Given the description of an element on the screen output the (x, y) to click on. 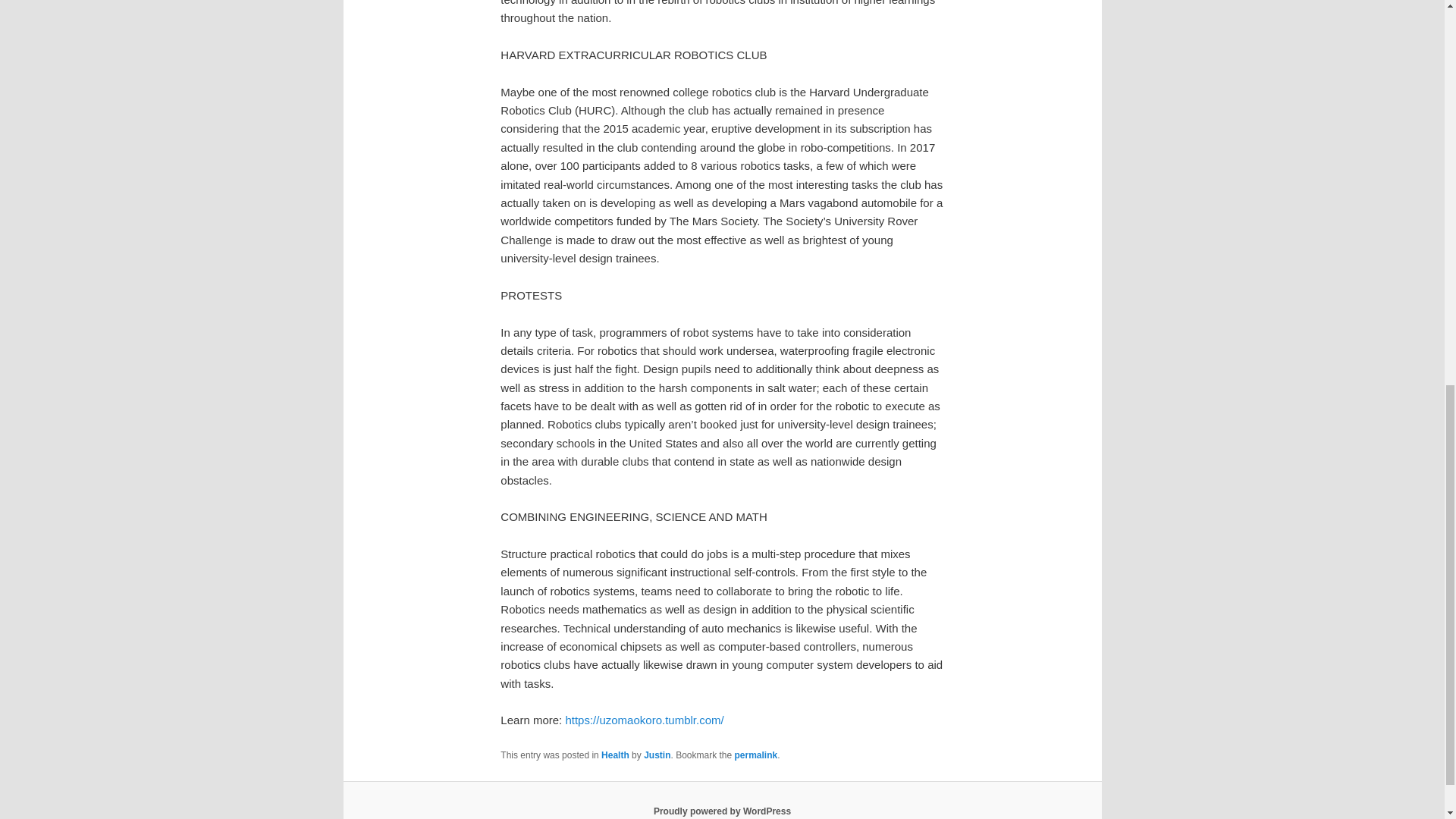
Health (614, 755)
Permalink to About The Details of New Technology, Robots (756, 755)
Proudly powered by WordPress (721, 810)
permalink (756, 755)
Justin (656, 755)
Semantic Personal Publishing Platform (721, 810)
